Given the description of an element on the screen output the (x, y) to click on. 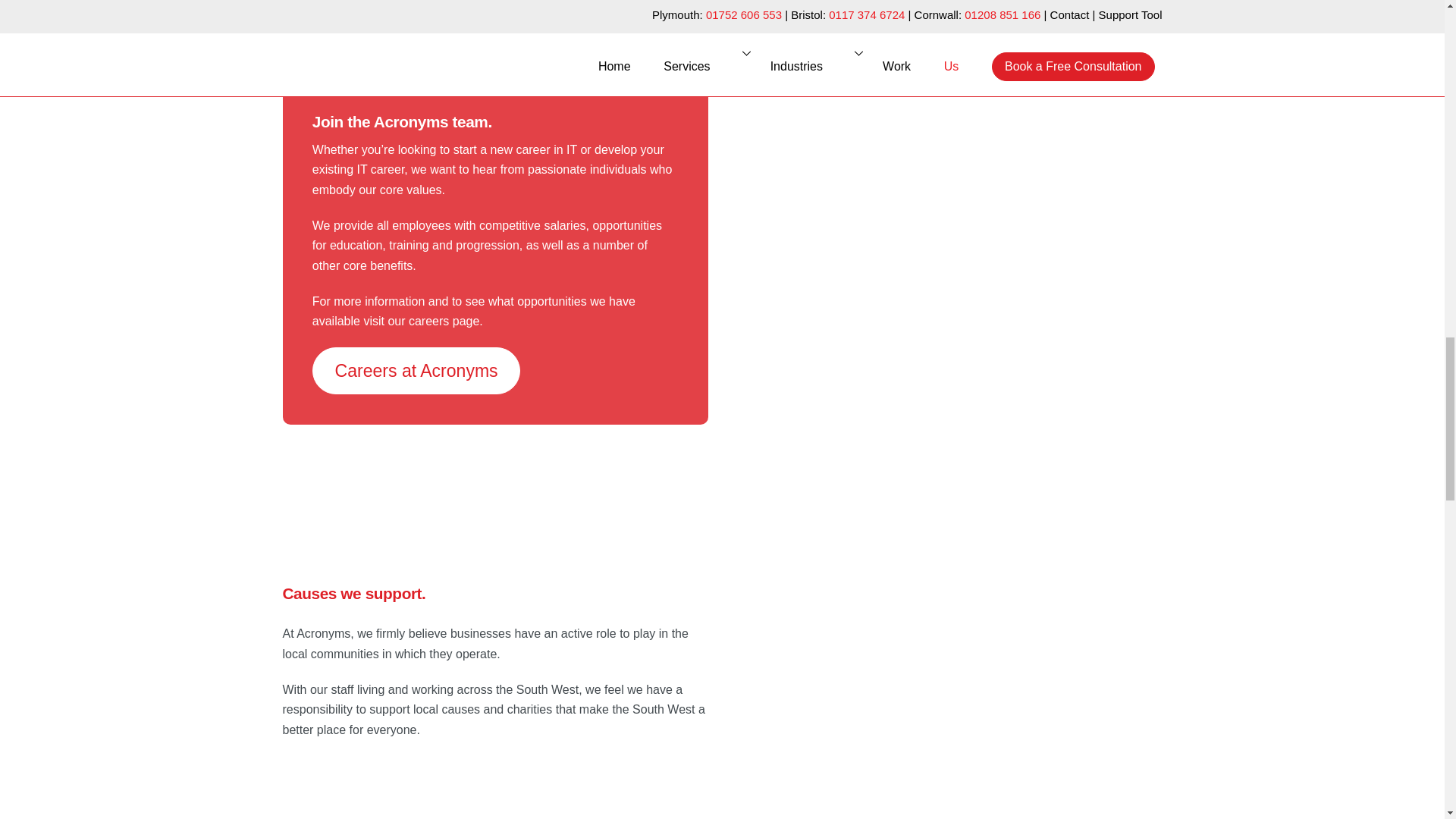
Careers at Acronyms (417, 370)
